Given the description of an element on the screen output the (x, y) to click on. 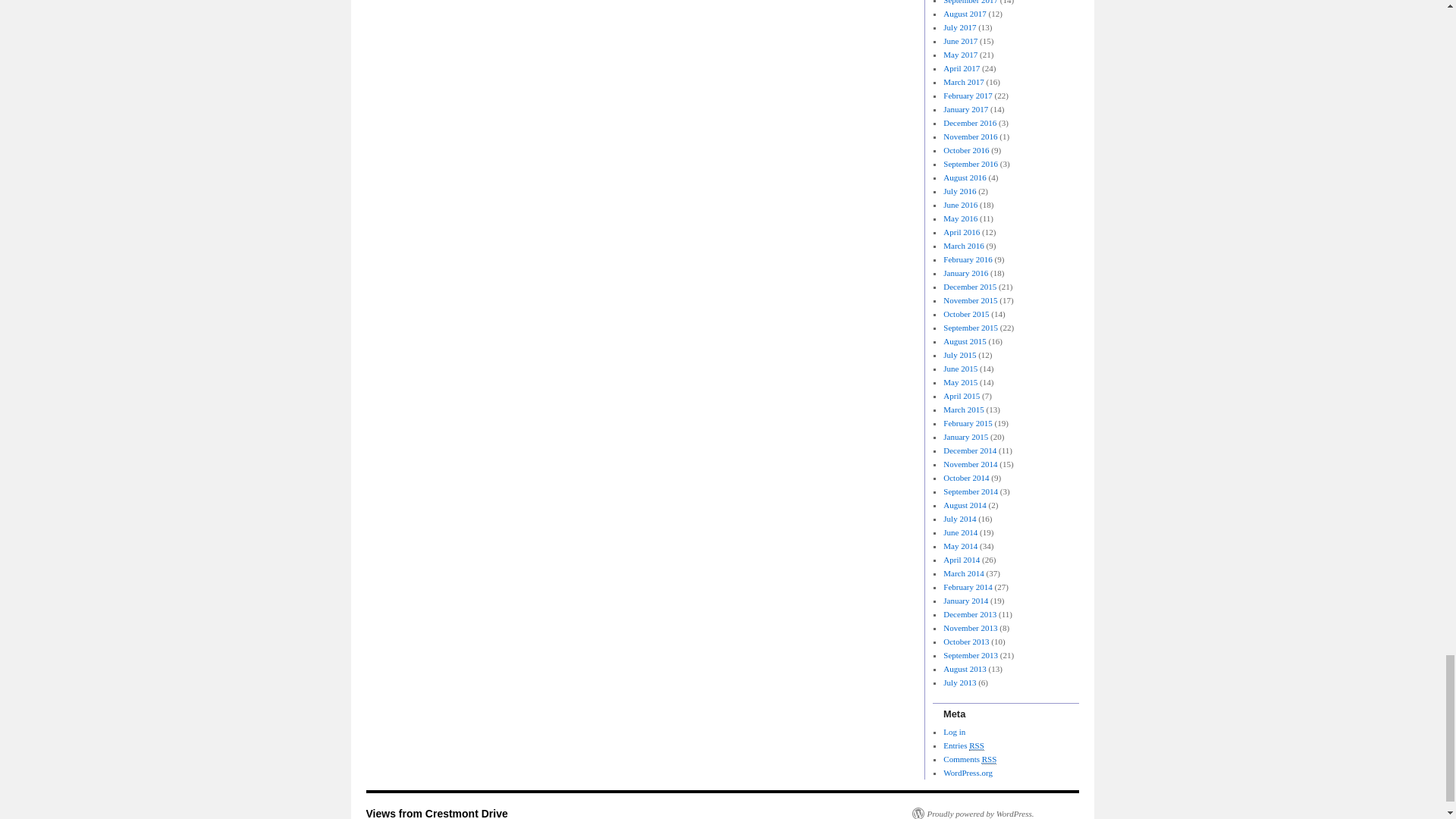
Really Simple Syndication (976, 746)
Really Simple Syndication (989, 759)
